Given the description of an element on the screen output the (x, y) to click on. 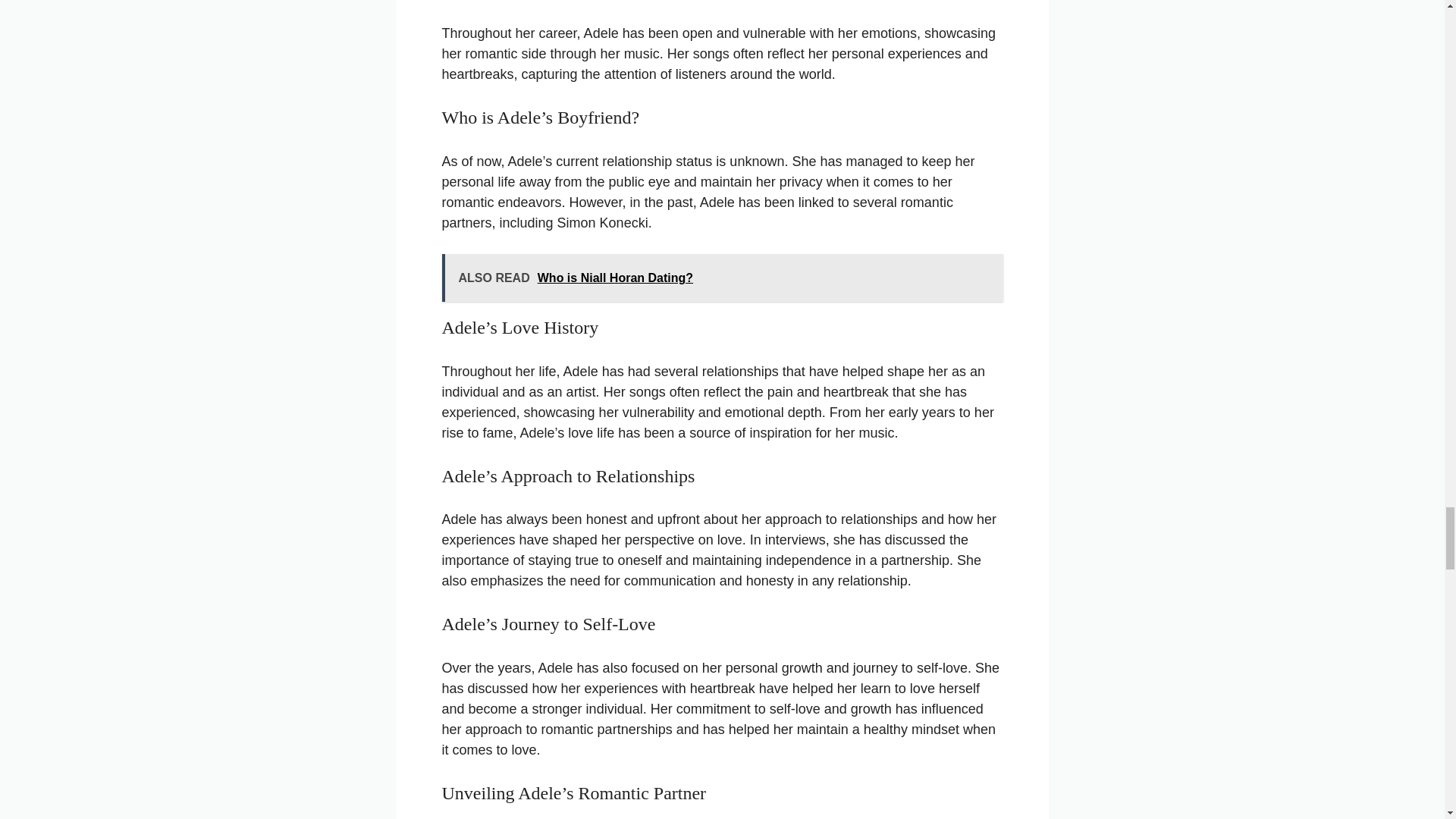
ALSO READ  Who is Niall Horan Dating? (722, 277)
